Given the description of an element on the screen output the (x, y) to click on. 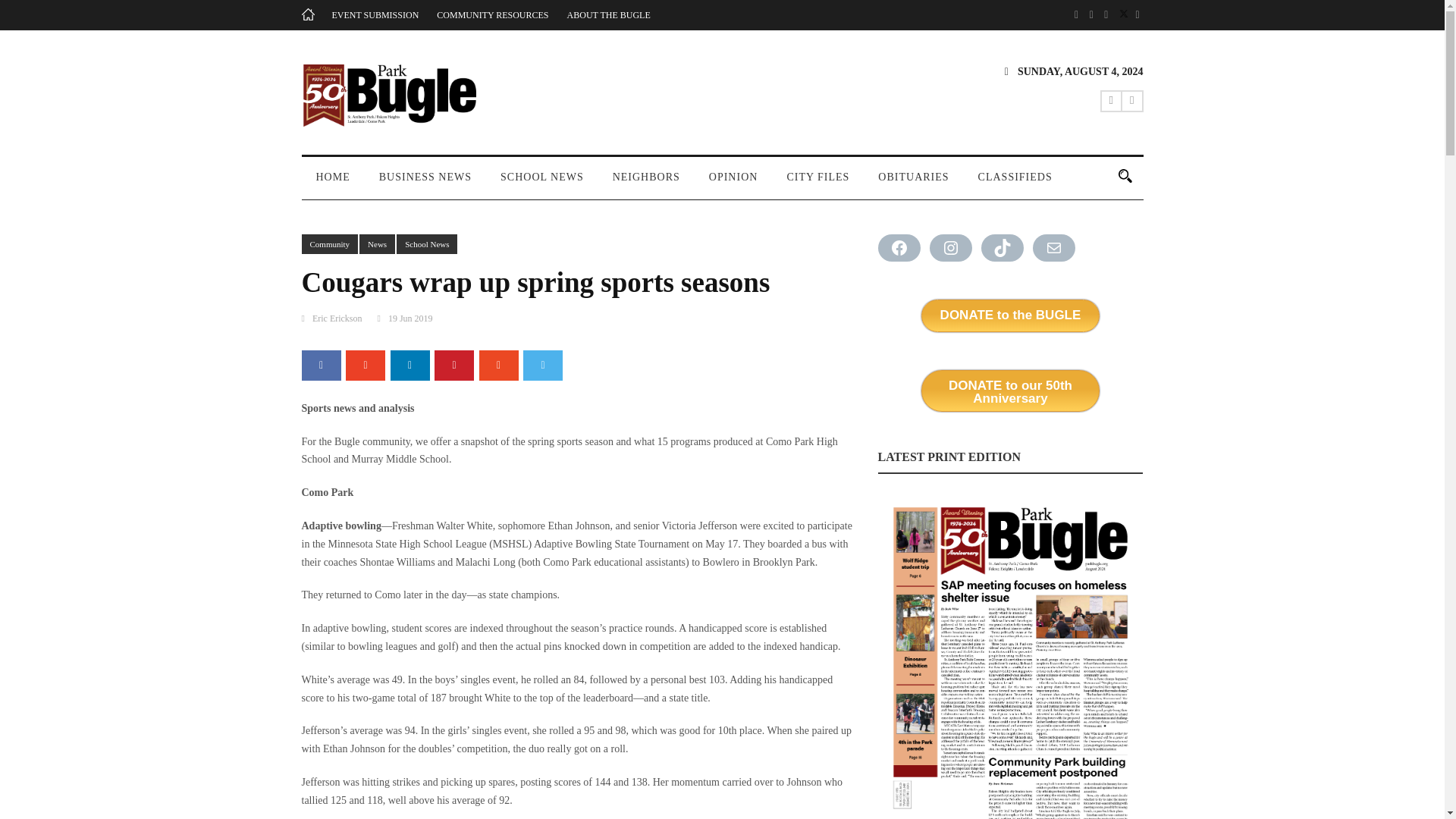
COMMUNITY RESOURCES (492, 15)
OBITUARIES (912, 183)
NEIGHBORS (646, 183)
HOME (333, 183)
EVENT SUBMISSION (375, 15)
BUSINESS NEWS (425, 183)
CLASSIFIEDS (1015, 183)
Community (329, 244)
SCHOOL NEWS (542, 183)
CITY FILES (817, 183)
OPINION (733, 183)
ABOUT THE BUGLE (608, 15)
Posts by Eric Erickson (337, 317)
News (376, 244)
